Given the description of an element on the screen output the (x, y) to click on. 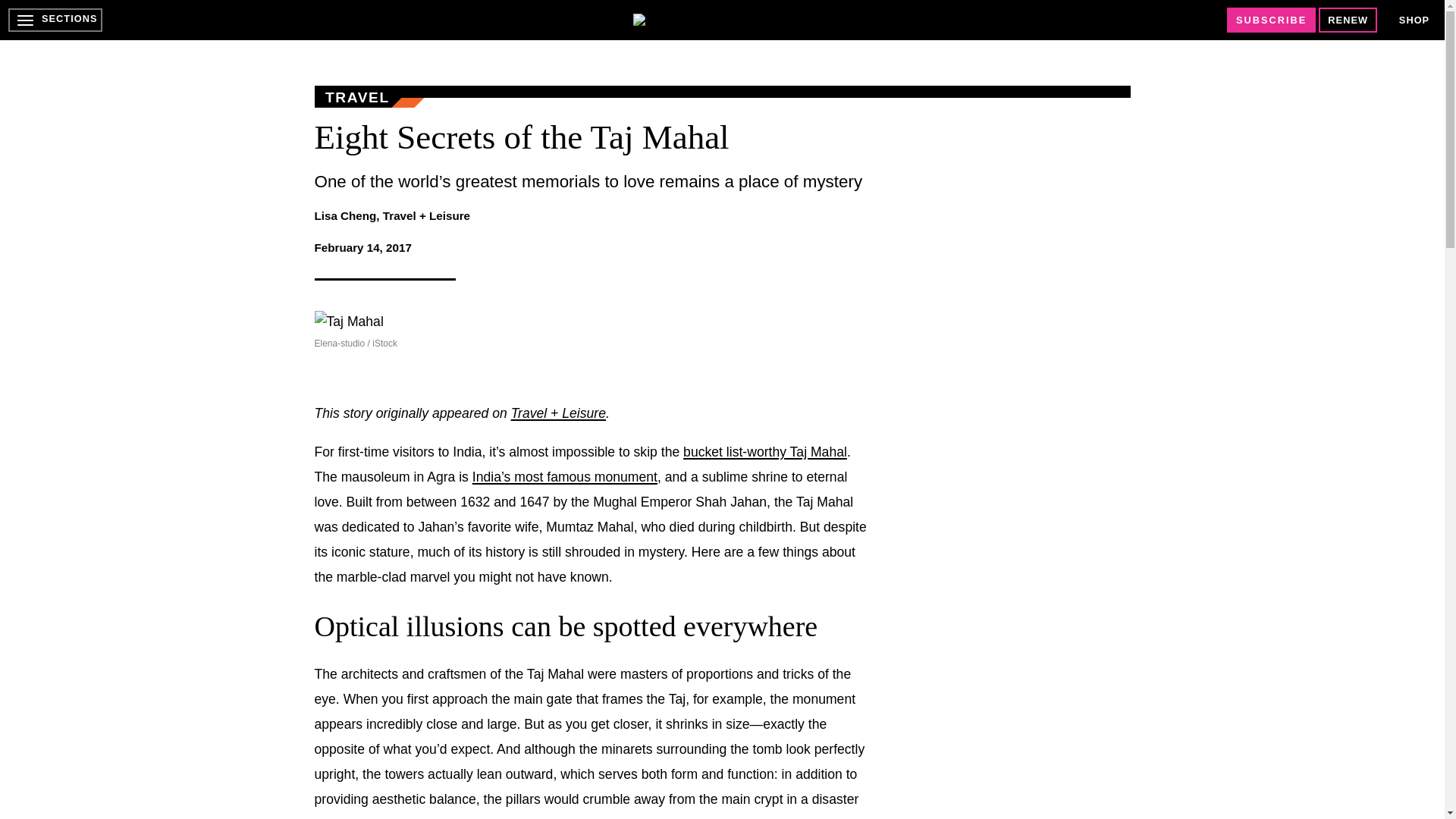
SHOP (1414, 19)
RENEW (1347, 19)
SHOP (1413, 19)
SUBSCRIBE (1271, 19)
SUBSCRIBE (1271, 19)
RENEW (1348, 19)
SECTIONS (55, 19)
